Given the description of an element on the screen output the (x, y) to click on. 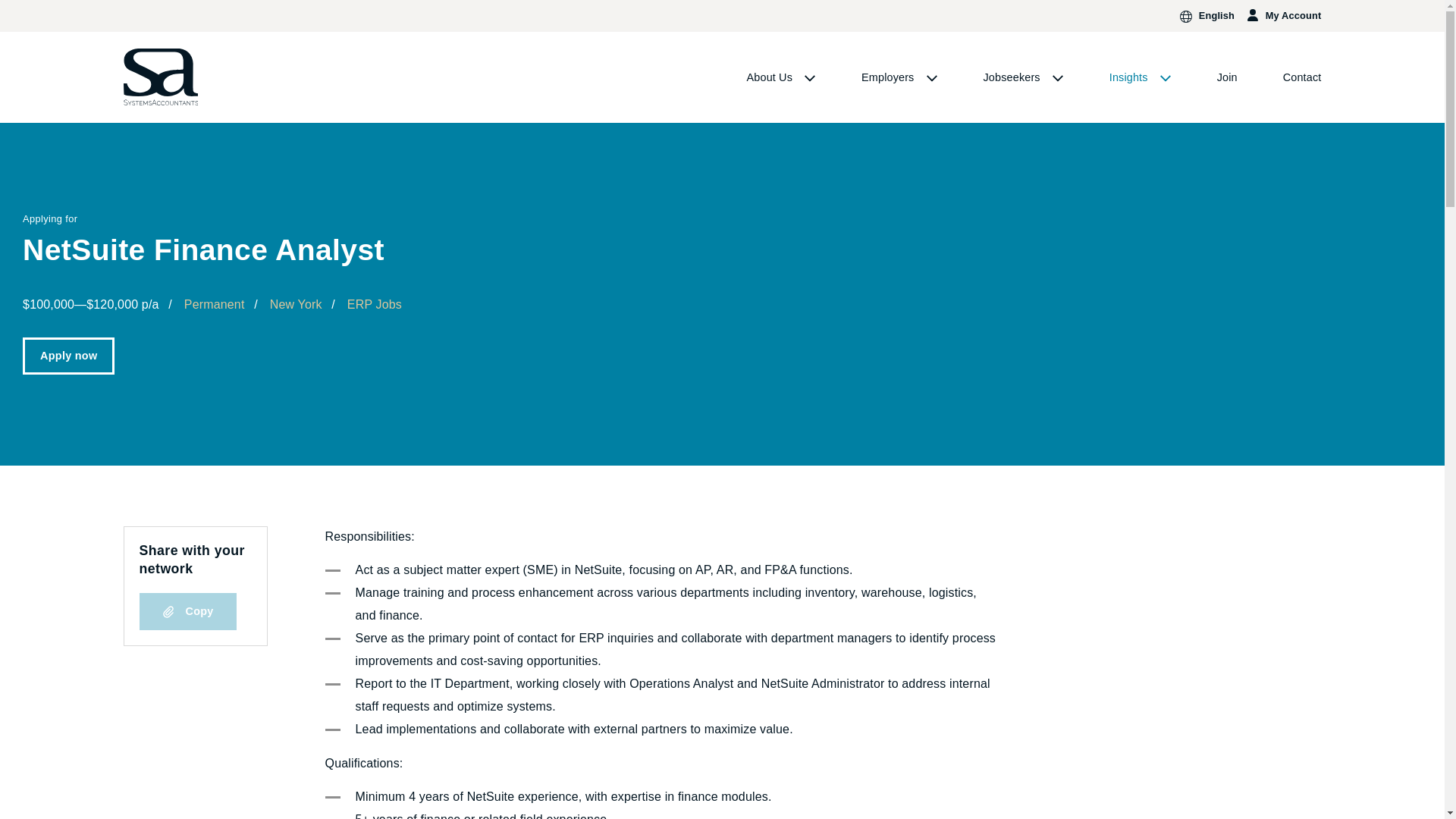
View more in ERP Jobs (374, 304)
Join (1227, 77)
Insights (1140, 77)
View more in New York (295, 304)
Employers (899, 77)
My Account (1283, 15)
About Us (781, 77)
Jobseekers (1024, 77)
SystemsAccountants (160, 76)
Contact (1302, 77)
